Given the description of an element on the screen output the (x, y) to click on. 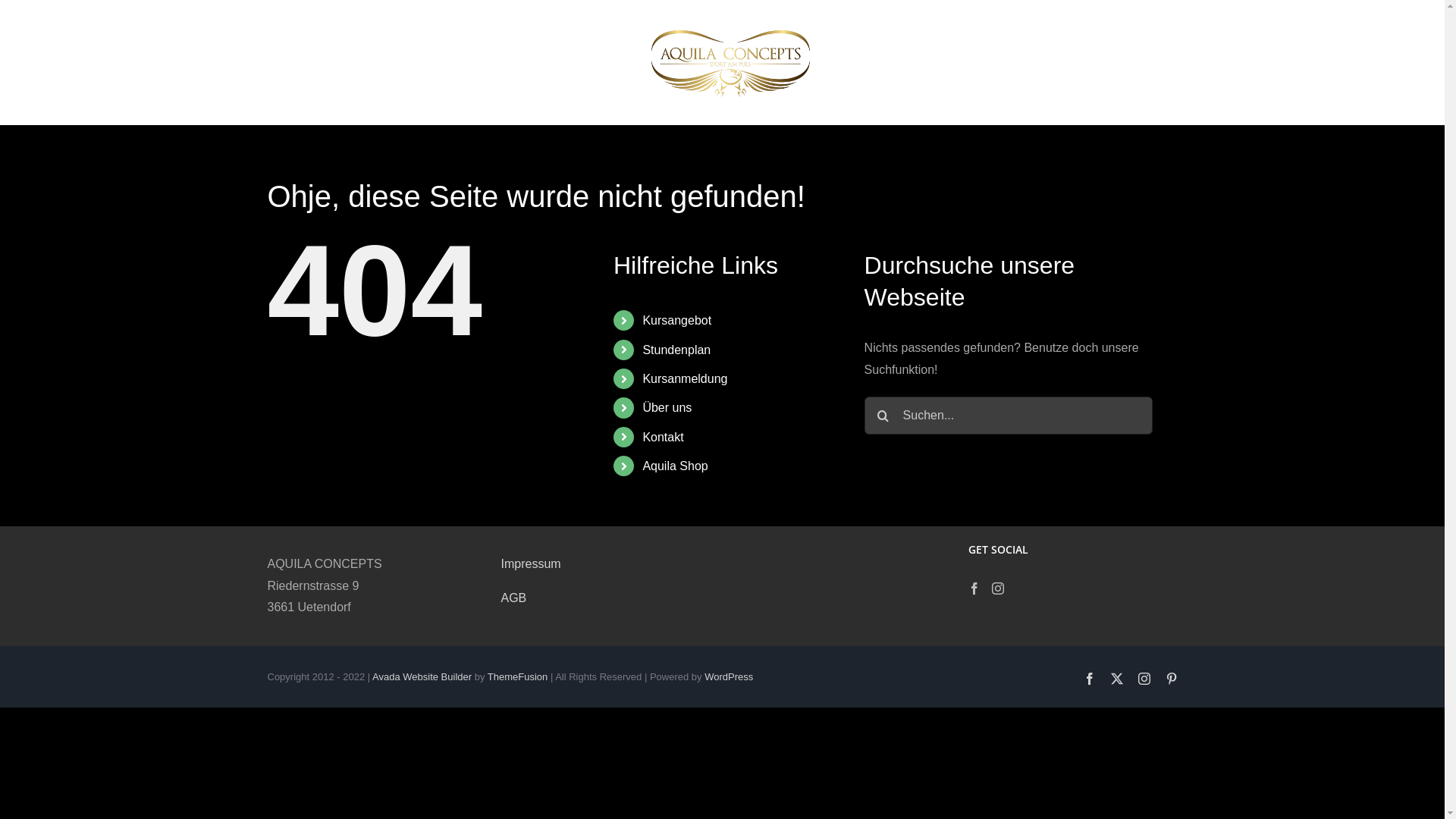
Kursanmeldung Element type: text (684, 378)
Stundenplan Element type: text (676, 349)
Kontakt Element type: text (927, 62)
Kursanmeldung Element type: text (576, 62)
Kursangebot Element type: text (676, 319)
Kontakt Element type: text (662, 436)
Aquila Shop Element type: text (997, 62)
Kursangebot Element type: text (400, 62)
Twitter Element type: text (1116, 678)
Stundenplan Element type: text (484, 62)
Impressum Element type: text (530, 563)
Instagram Element type: text (1143, 678)
Avada Website Builder Element type: text (421, 676)
Facebook Element type: text (1088, 678)
AGB Element type: text (513, 597)
ThemeFusion Element type: text (517, 676)
Pinterest Element type: text (1170, 678)
WordPress Element type: text (728, 676)
Aquila Shop Element type: text (674, 465)
